Given the description of an element on the screen output the (x, y) to click on. 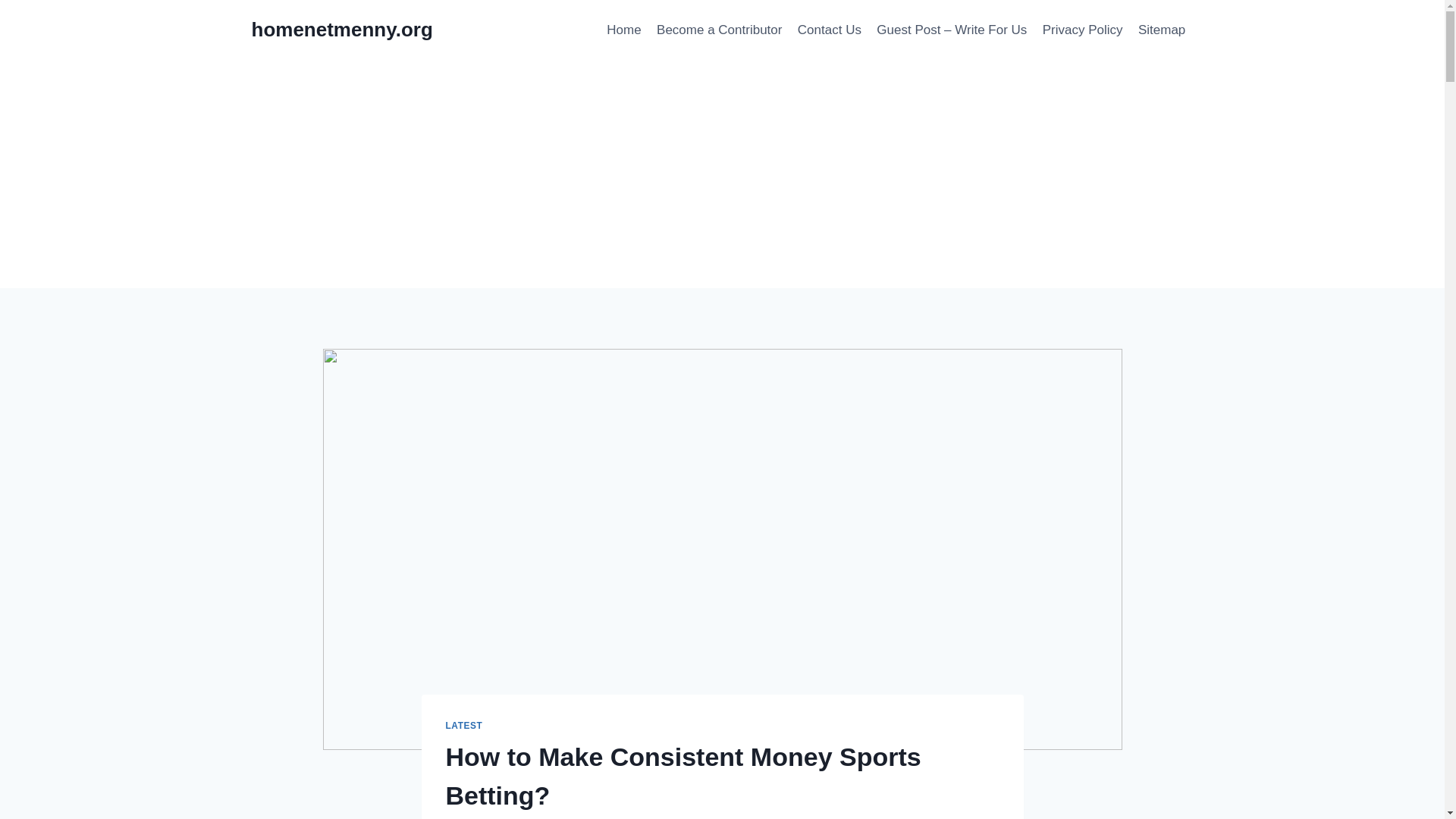
Privacy Policy (1083, 30)
homenetmenny.org (341, 29)
Home (623, 30)
LATEST (464, 725)
Contact Us (829, 30)
Sitemap (1162, 30)
Become a Contributor (719, 30)
